Given the description of an element on the screen output the (x, y) to click on. 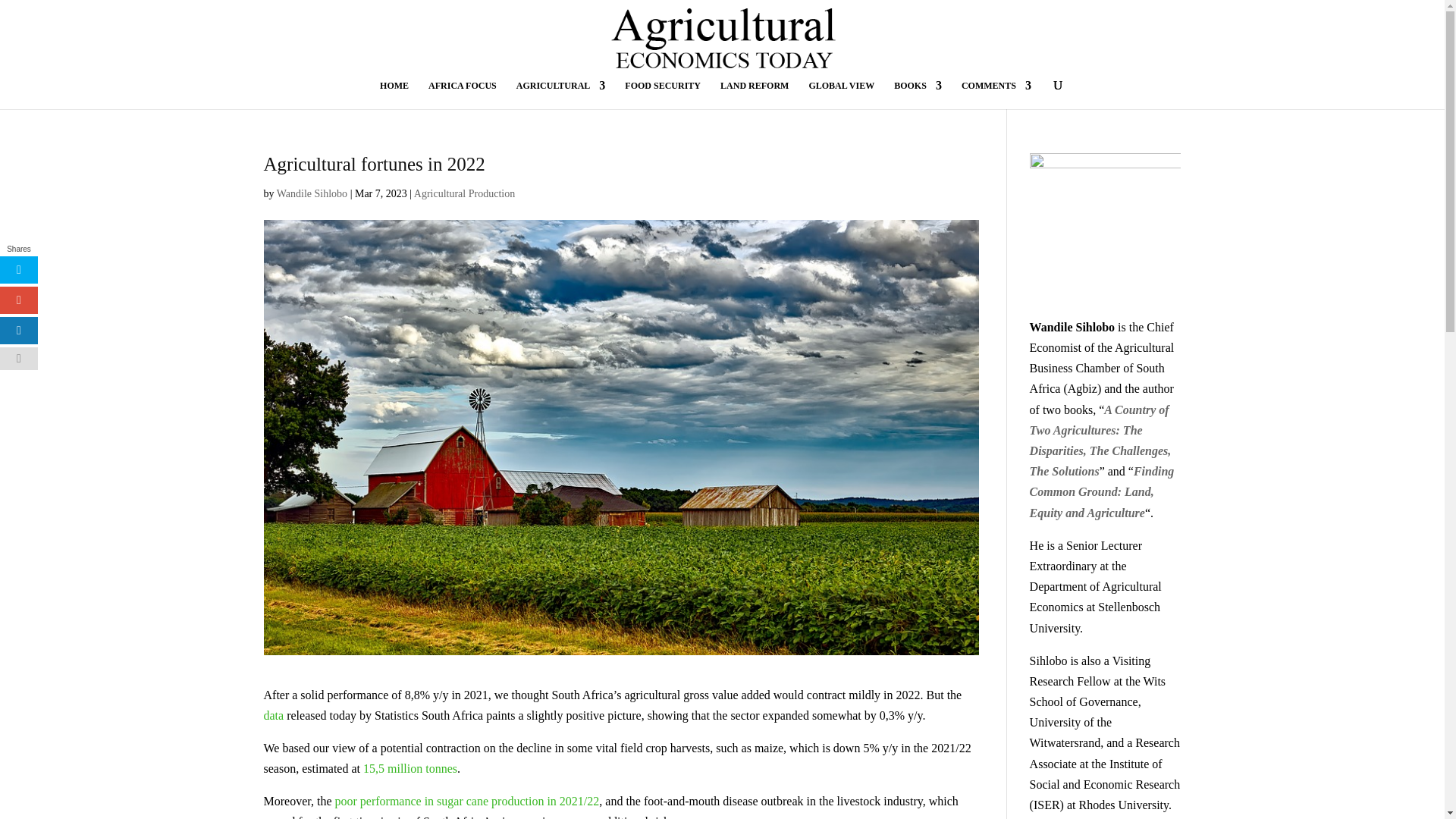
FOOD SECURITY (662, 94)
Agricultural Production (464, 193)
Posts by Wandile Sihlobo (311, 193)
AFRICA FOCUS (462, 94)
LAND REFORM (754, 94)
BOOKS (917, 94)
AGRICULTURAL (560, 94)
Finding Common Ground: Land, Equity and Agriculture (1101, 491)
HOME (394, 94)
Wandile Sihlobo (311, 193)
